Given the description of an element on the screen output the (x, y) to click on. 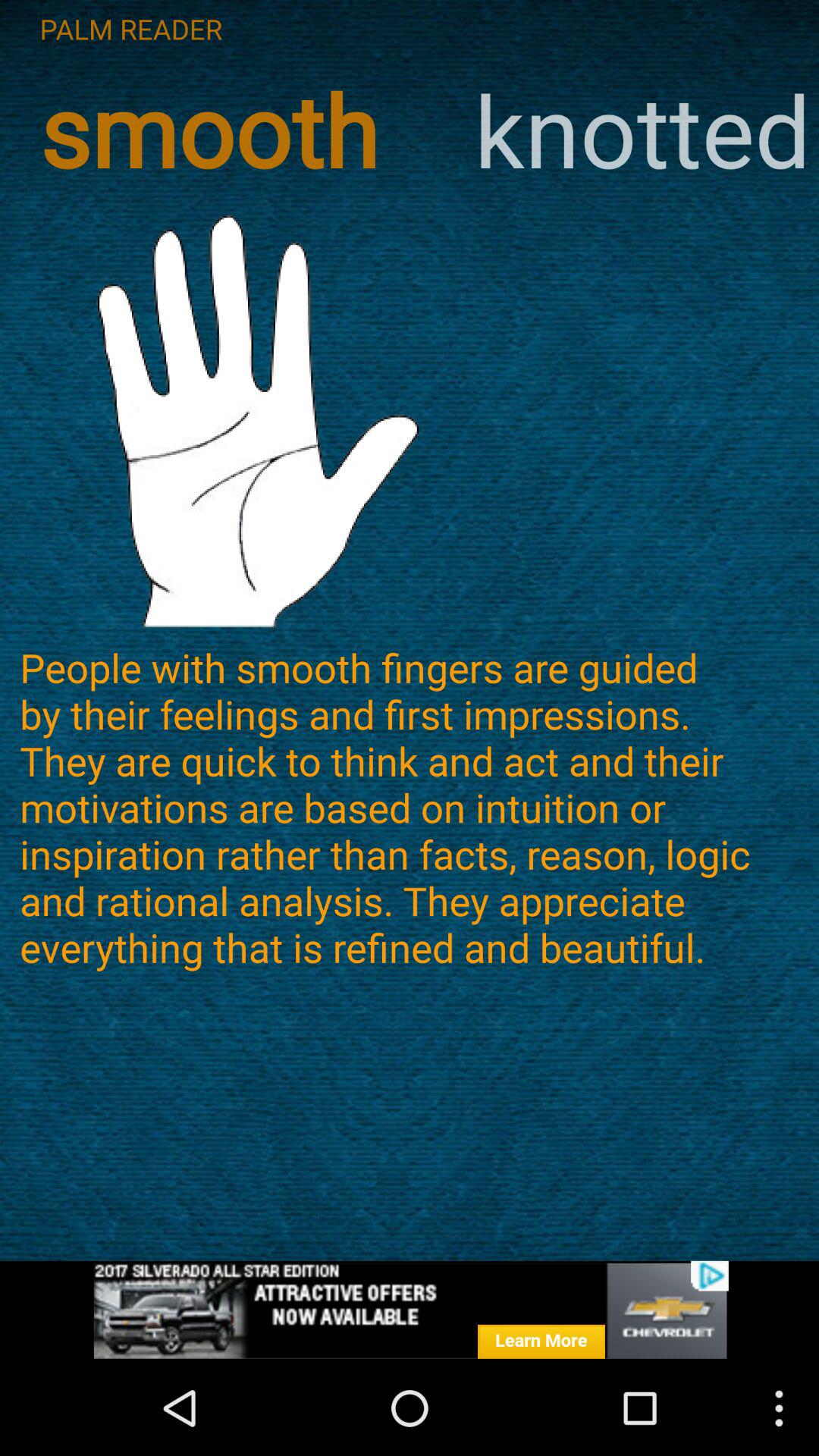
go to advertisement website (409, 1310)
